Given the description of an element on the screen output the (x, y) to click on. 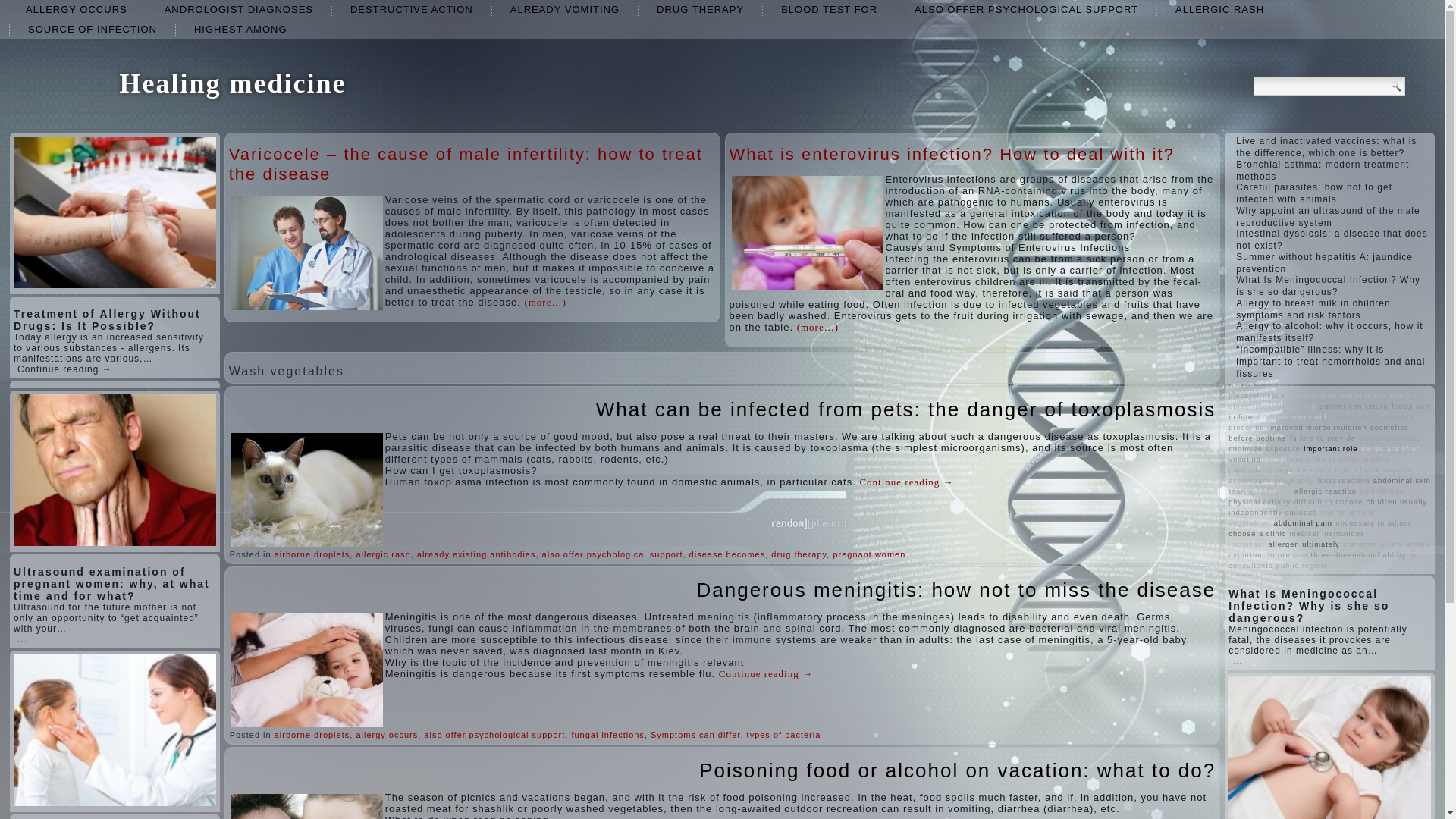
ALLERGIC RASH (1219, 9)
already existing antibodies (475, 553)
pregnant women (868, 553)
allergic rash (382, 553)
airborne droplets (312, 553)
Poisoning food or alcohol on vacation: what to do? (956, 770)
Dangerous meningitis: how not to miss the disease (955, 589)
ALSO OFFER PSYCHOLOGICAL SUPPORT (1026, 9)
disease becomes (726, 553)
ALLERGY OCCURS (76, 9)
